Given the description of an element on the screen output the (x, y) to click on. 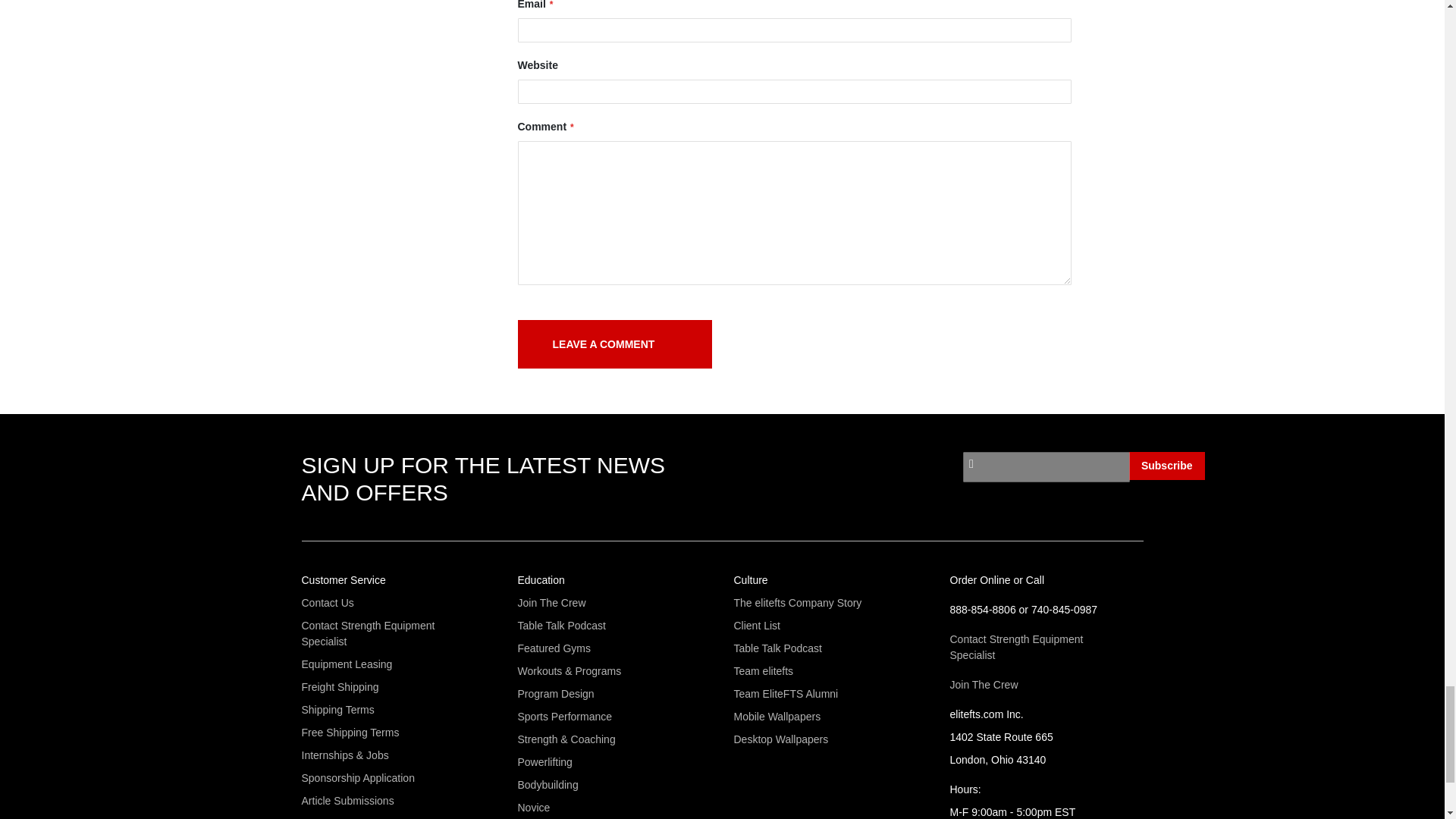
Subscribe (1167, 465)
